Given the description of an element on the screen output the (x, y) to click on. 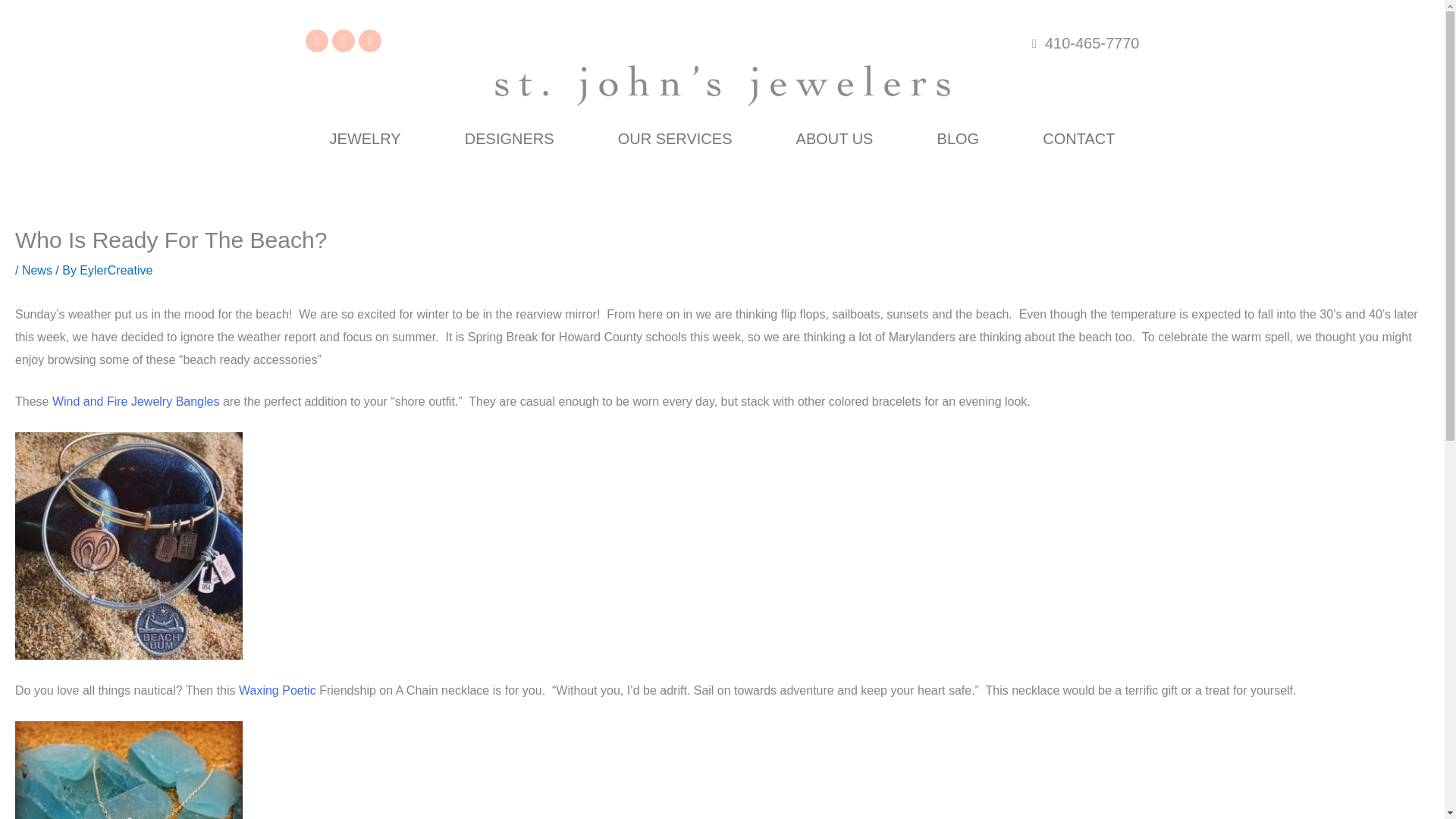
DESIGNERS (509, 138)
Instagram (343, 40)
View all posts by EylerCreative (116, 269)
Youtube (369, 40)
BLOG (958, 138)
JEWELRY (364, 138)
Facebook-f (315, 40)
CONTACT (1078, 138)
ABOUT US (834, 138)
OUR SERVICES (675, 138)
